Given the description of an element on the screen output the (x, y) to click on. 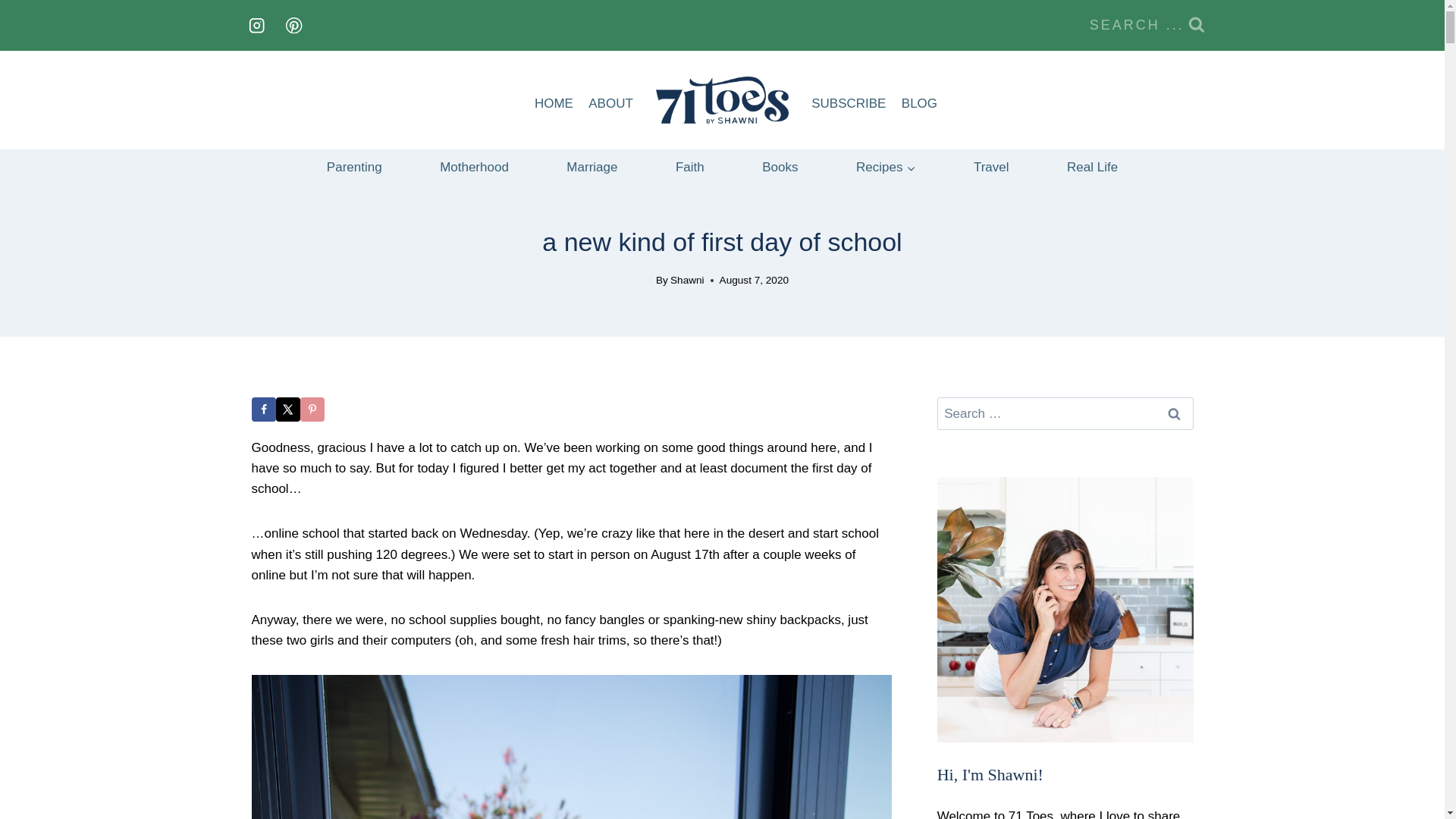
SUBSCRIBE (848, 103)
Faith (689, 167)
HOME (553, 103)
SEARCH ... (1147, 25)
Share on Facebook (263, 409)
Search (1174, 413)
Recipes (885, 167)
Search (1174, 413)
Travel (991, 167)
Marriage (591, 167)
